Given the description of an element on the screen output the (x, y) to click on. 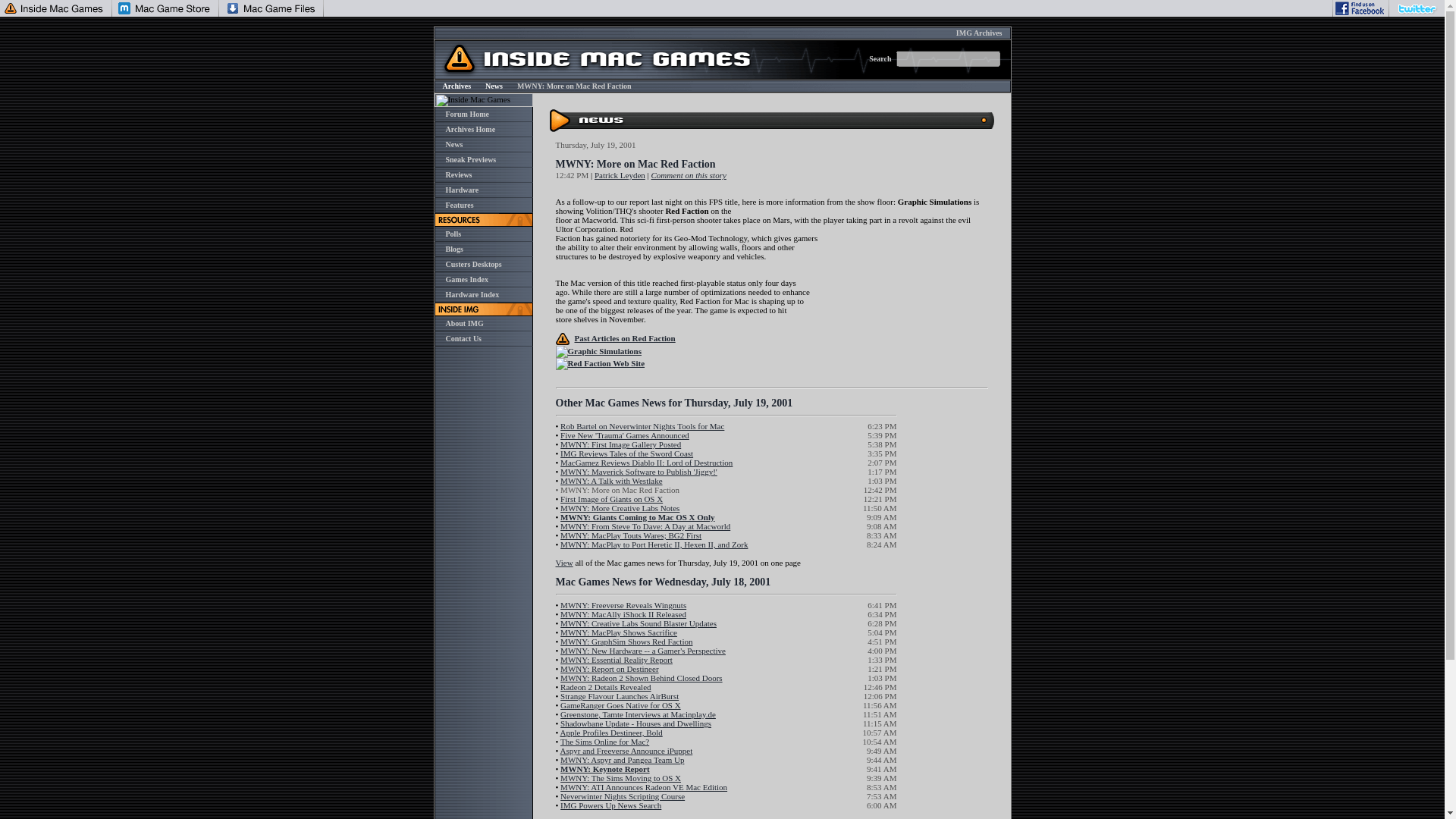
Features (459, 204)
MWNY: From Steve To Dave: A Day at Macworld (645, 525)
Hardware (462, 189)
Games Index (466, 279)
Archives Home (470, 129)
About IMG (464, 323)
MWNY: MacPlay to Port Heretic II, Hexen II, and Zork (654, 543)
MWNY: First Image Gallery Posted (620, 443)
MWNY: MacPlay Touts Wares; BG2 First (630, 534)
Contact Us (463, 338)
